Given the description of an element on the screen output the (x, y) to click on. 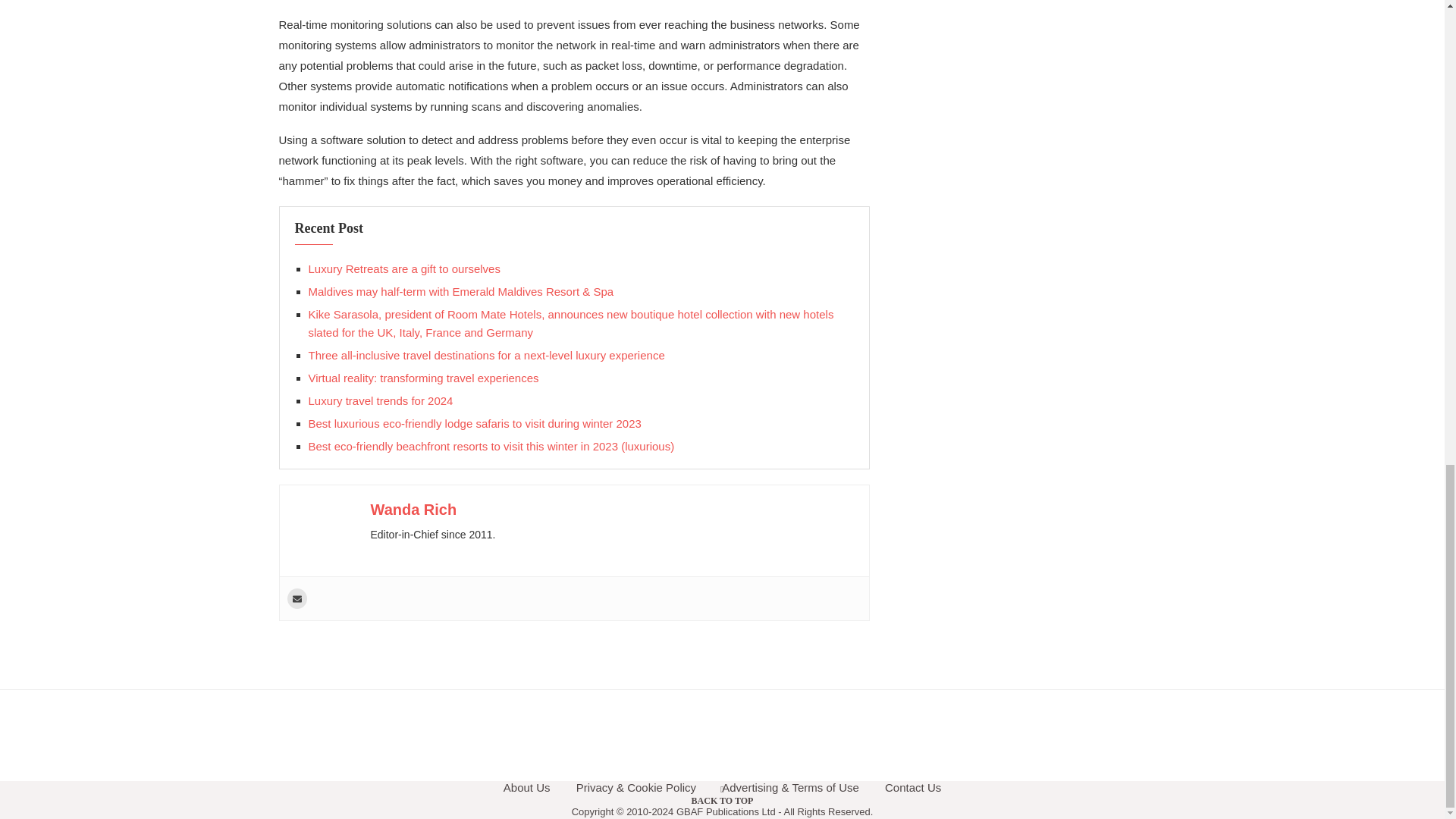
Luxury travel trends for 2024 (379, 400)
Luxury Retreats are a gift to ourselves (403, 268)
Virtual reality: transforming travel experiences (422, 377)
Wanda Rich (413, 509)
User email (295, 598)
